Given the description of an element on the screen output the (x, y) to click on. 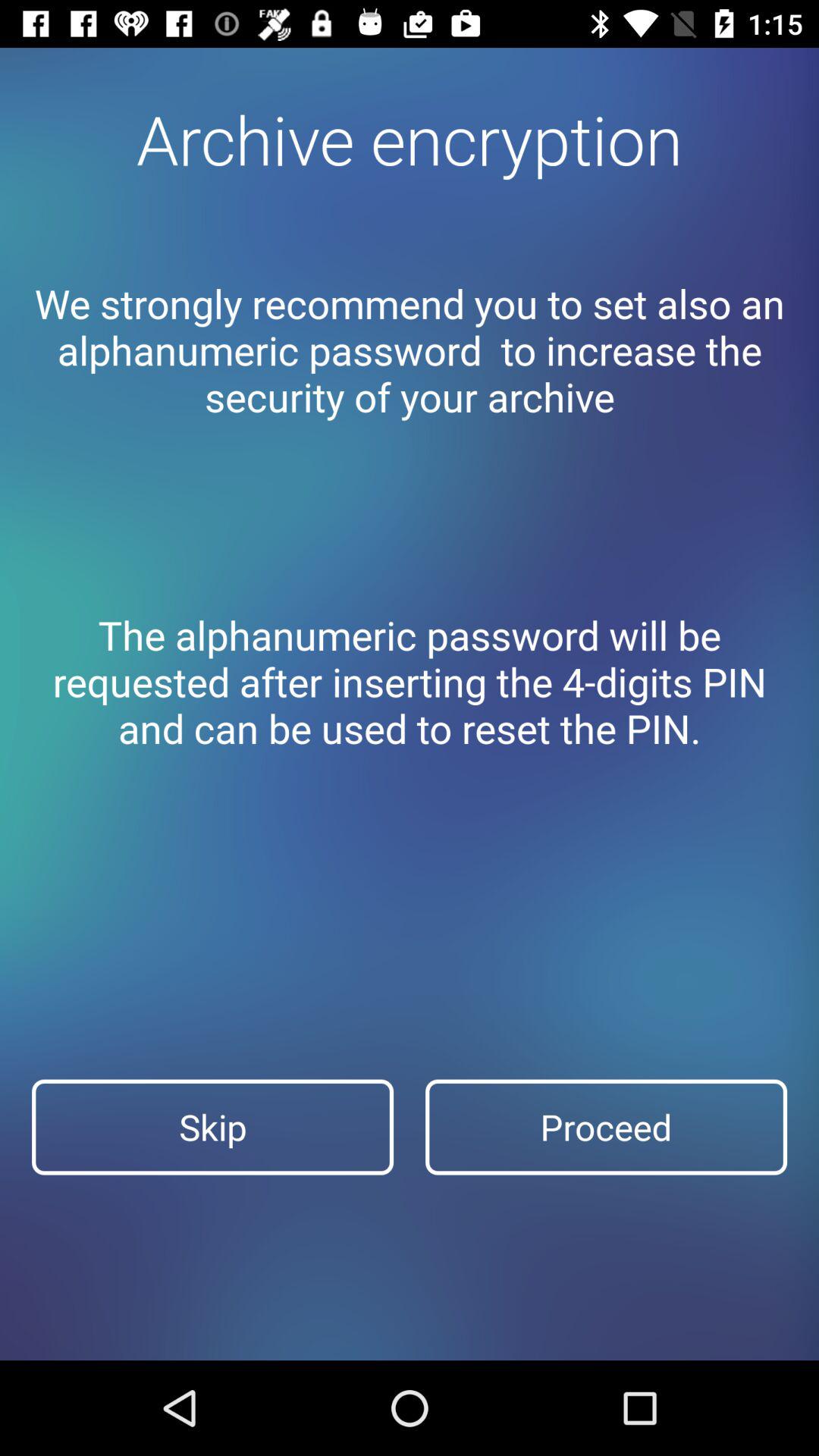
flip to skip icon (212, 1127)
